Given the description of an element on the screen output the (x, y) to click on. 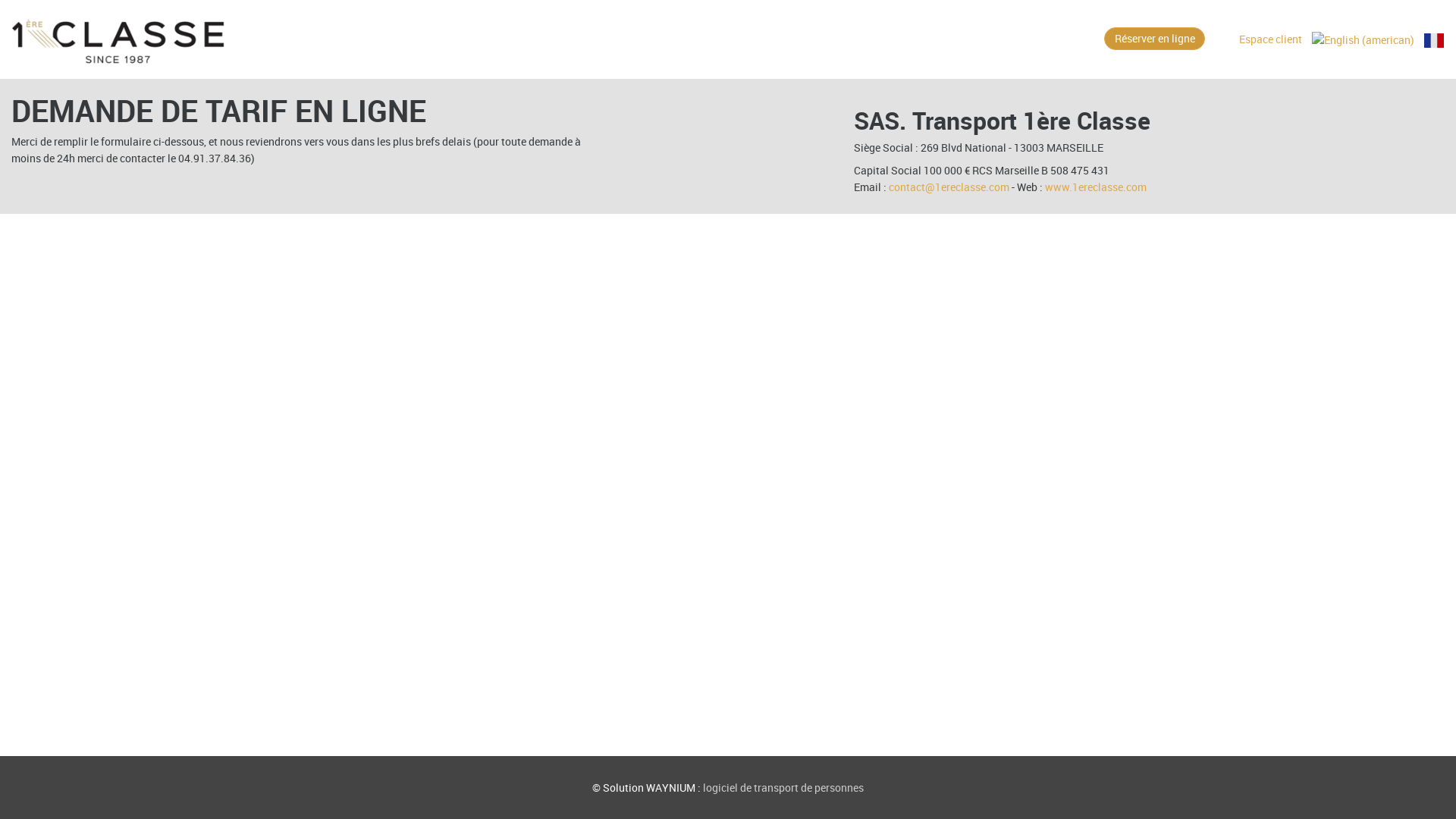
Espace client Element type: text (1270, 38)
English (american) Element type: hover (1362, 38)
logiciel de transport de personnes Element type: text (782, 787)
contact@1ereclasse.com Element type: text (948, 185)
www.1ereclasse.com Element type: text (1095, 185)
